Given the description of an element on the screen output the (x, y) to click on. 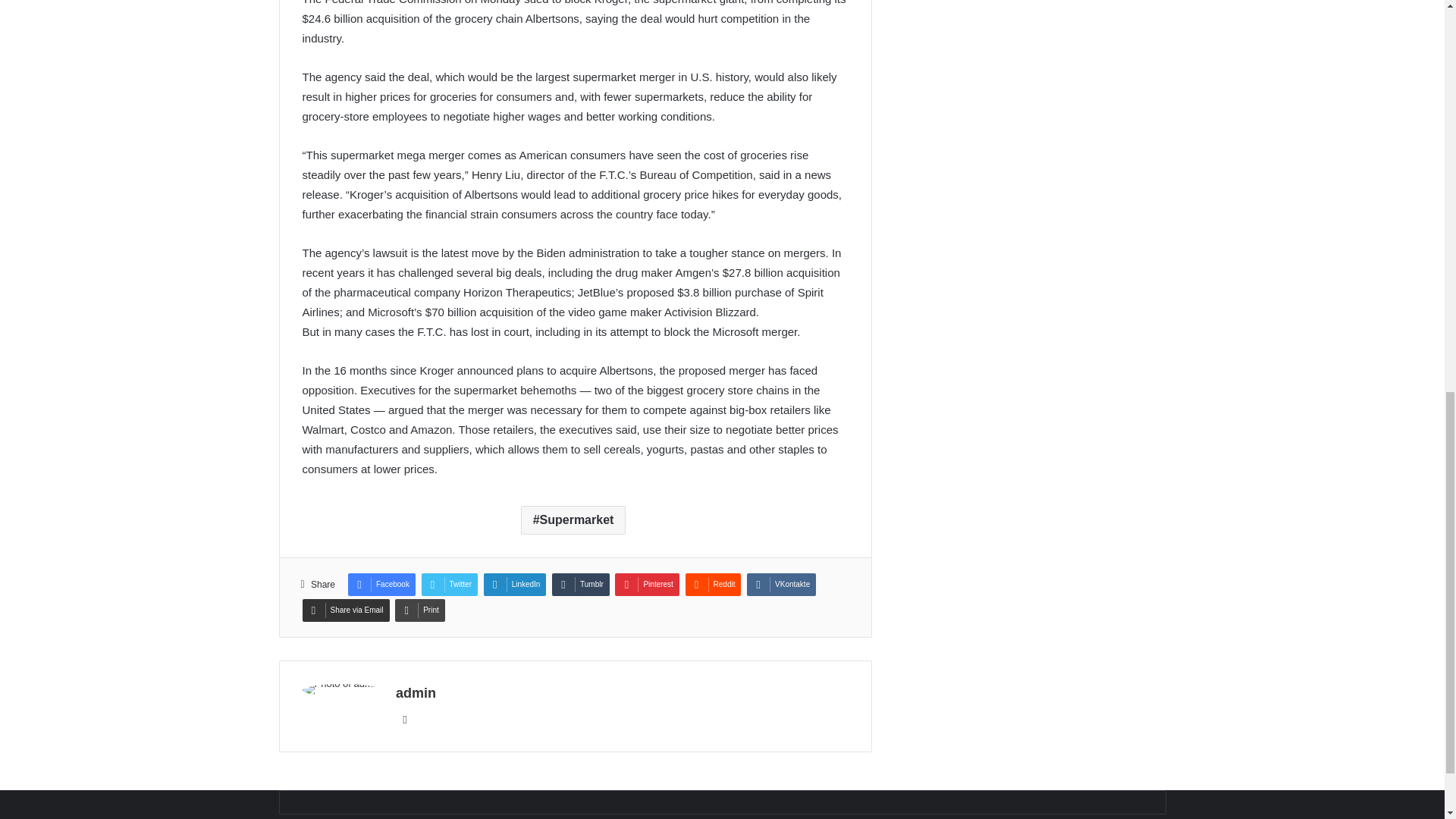
Supermarket (573, 520)
Reddit (713, 584)
VKontakte (780, 584)
Twitter (449, 584)
Print (419, 609)
Tumblr (580, 584)
Facebook (380, 584)
Share via Email (344, 609)
Pinterest (646, 584)
LinkedIn (515, 584)
